Given the description of an element on the screen output the (x, y) to click on. 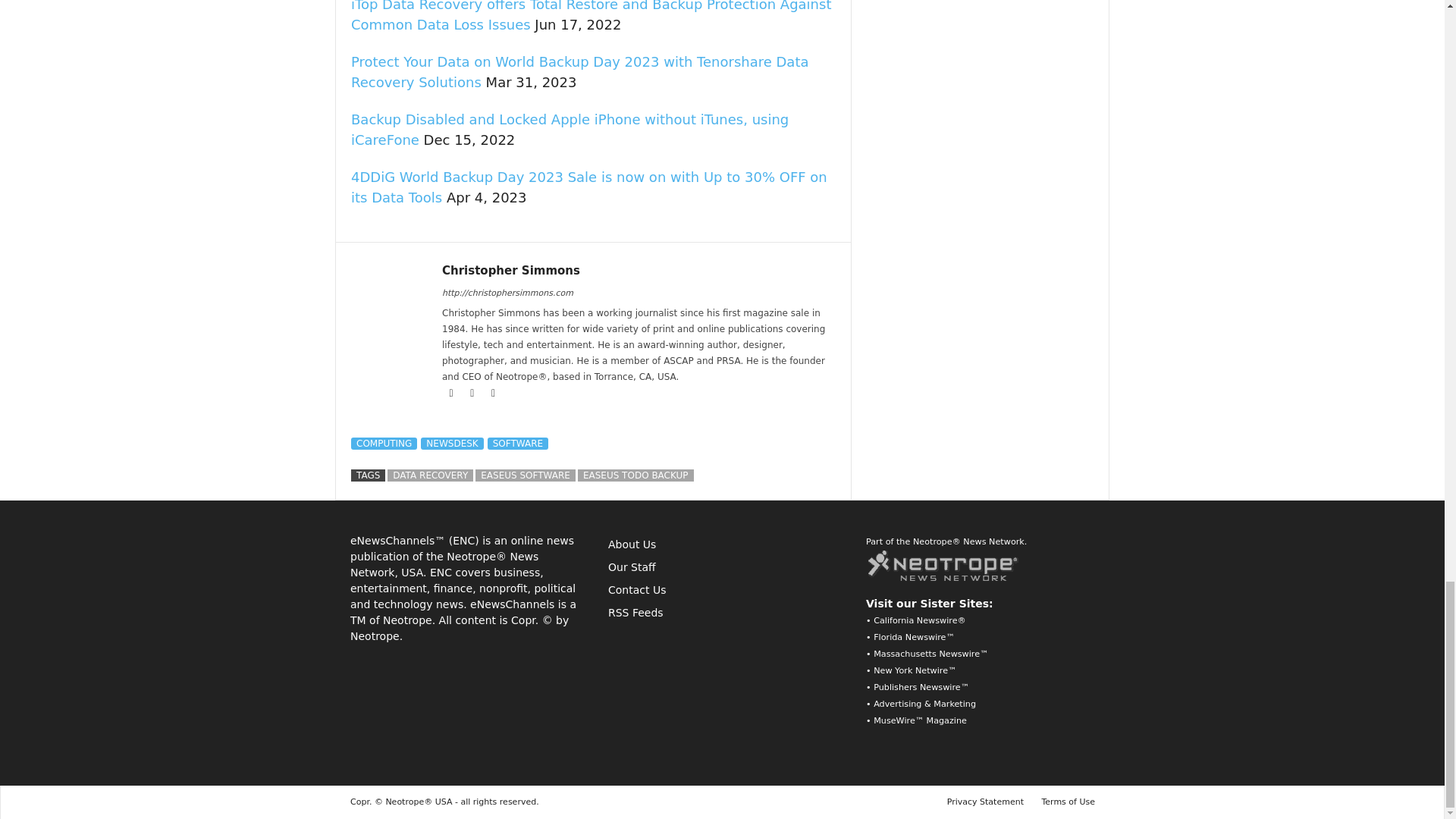
Twitter (493, 393)
Facebook (452, 393)
